Given the description of an element on the screen output the (x, y) to click on. 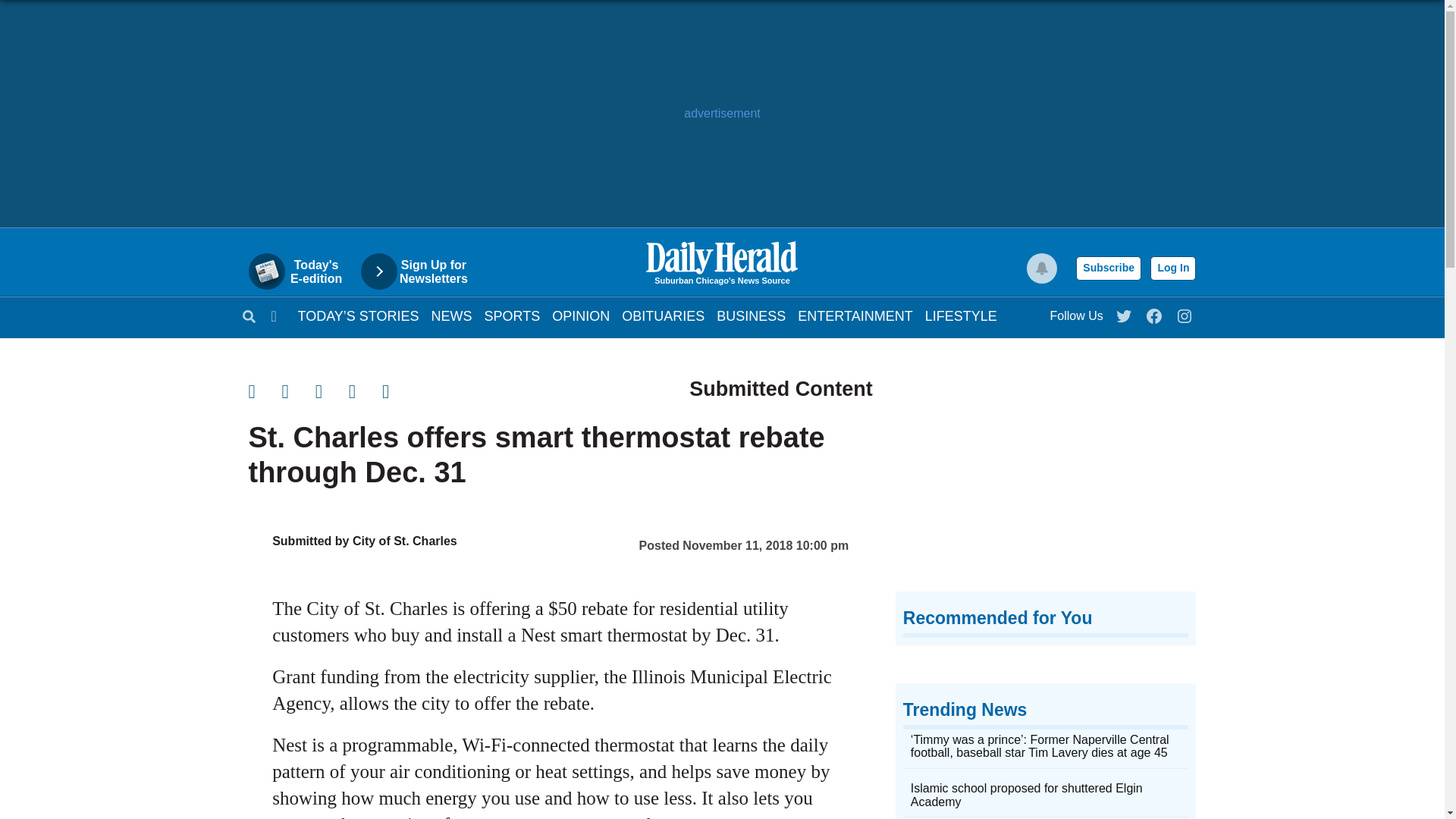
Twitter (1124, 312)
Lifestyle (960, 315)
Entertainment (303, 271)
Today's Stories (854, 315)
Signup Widget Embed (358, 315)
LIFESTYLE (1045, 479)
Obituaries (960, 315)
OBITUARIES (662, 315)
Opinion (662, 315)
Instagram (580, 315)
Log In (1184, 312)
NEWS (1172, 268)
SPORTS (450, 315)
BUSINESS (512, 315)
